Given the description of an element on the screen output the (x, y) to click on. 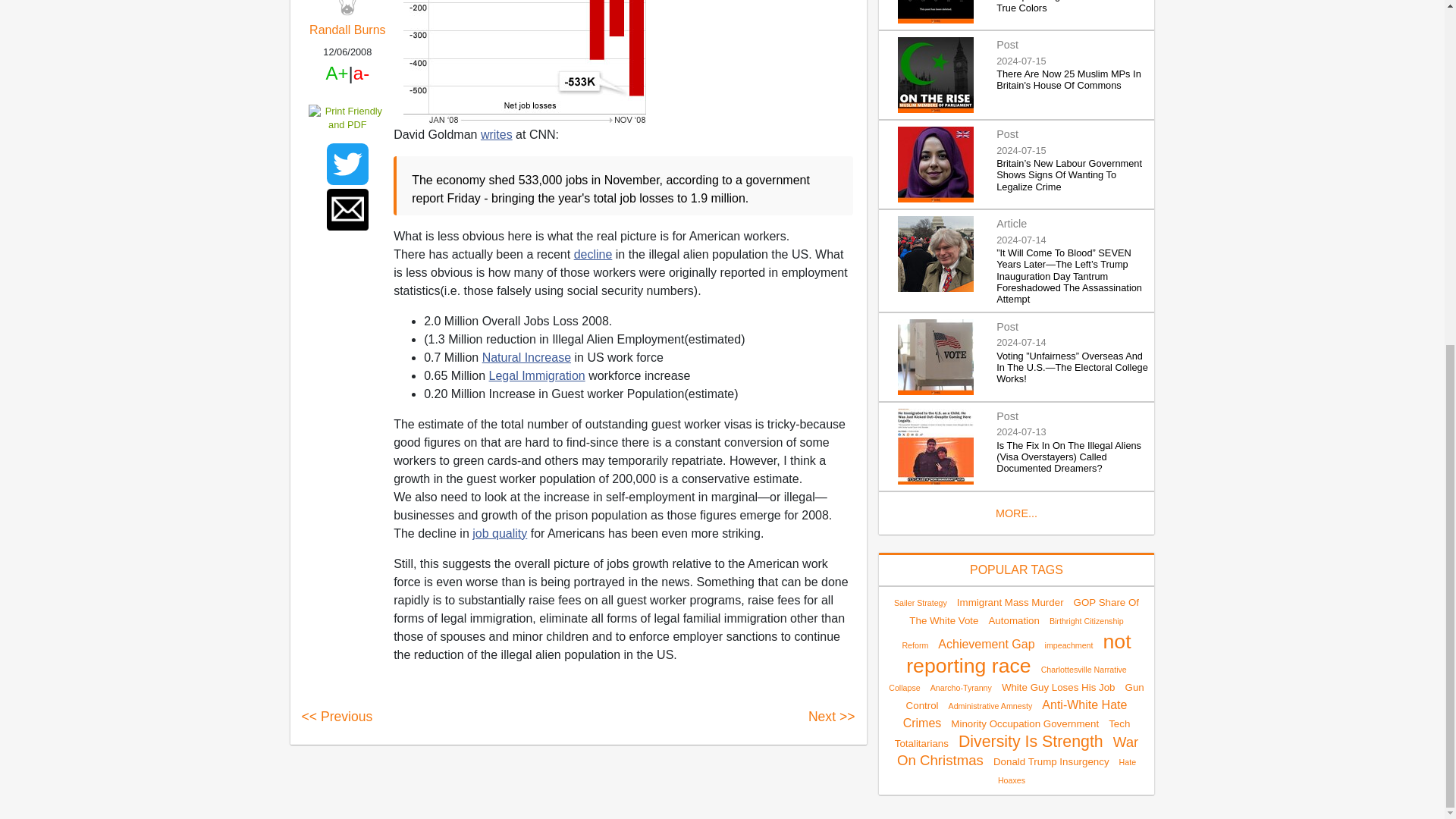
Share to Twitter (347, 164)
Share to Email (347, 209)
Printer Friendly and PDF (347, 117)
